Given the description of an element on the screen output the (x, y) to click on. 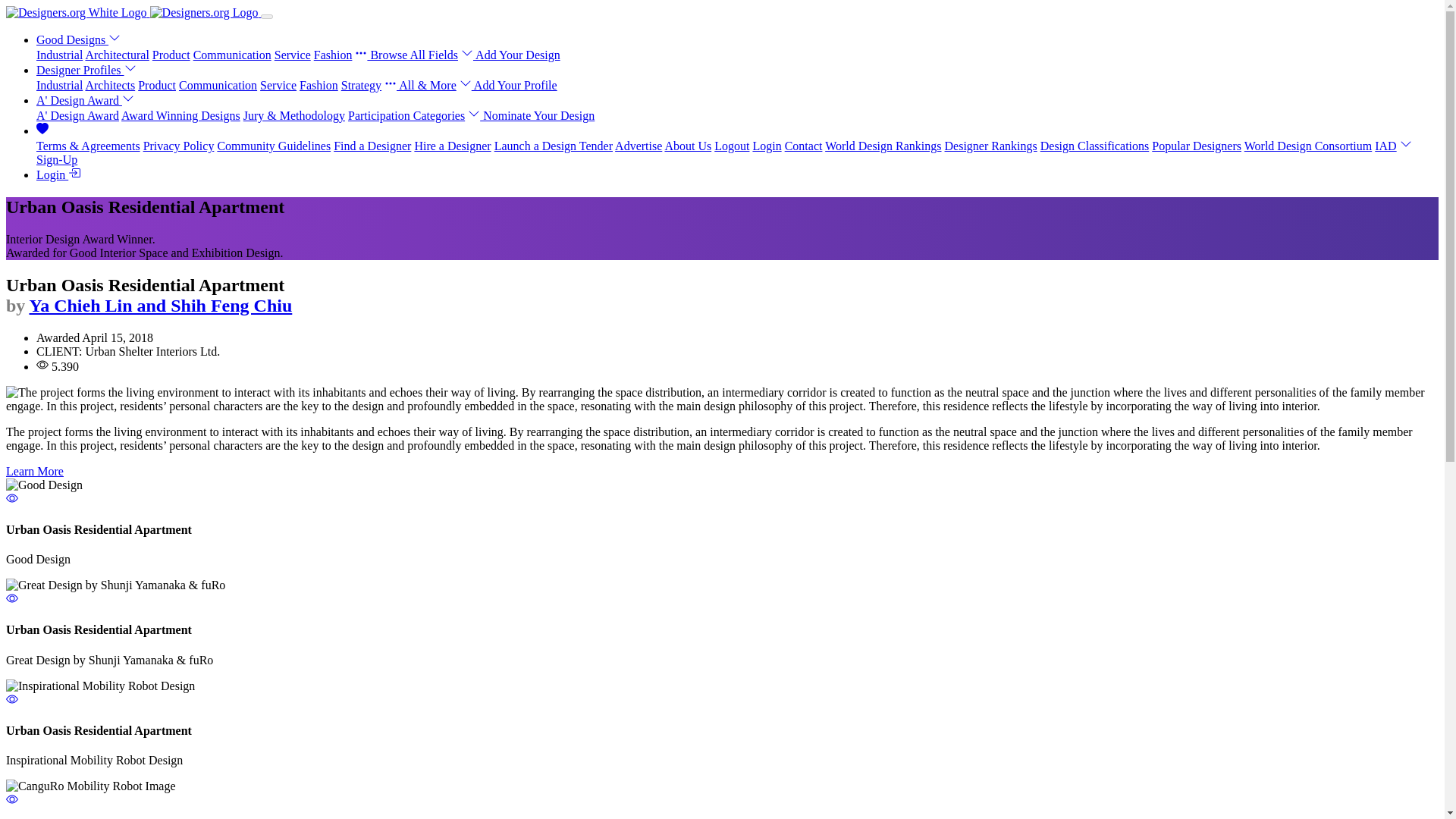
Designer Profiles (86, 69)
Logout (731, 145)
Community Guidelines (273, 145)
Communication (218, 84)
Advertise (638, 145)
Launch a Design Tender (553, 145)
Architects (109, 84)
Add Your Design (510, 54)
A' Design Award (77, 115)
Service (293, 54)
Find a Designer (371, 145)
Strategy (360, 84)
Contact (803, 145)
Product (171, 54)
Nominate Your Design (530, 115)
